Given the description of an element on the screen output the (x, y) to click on. 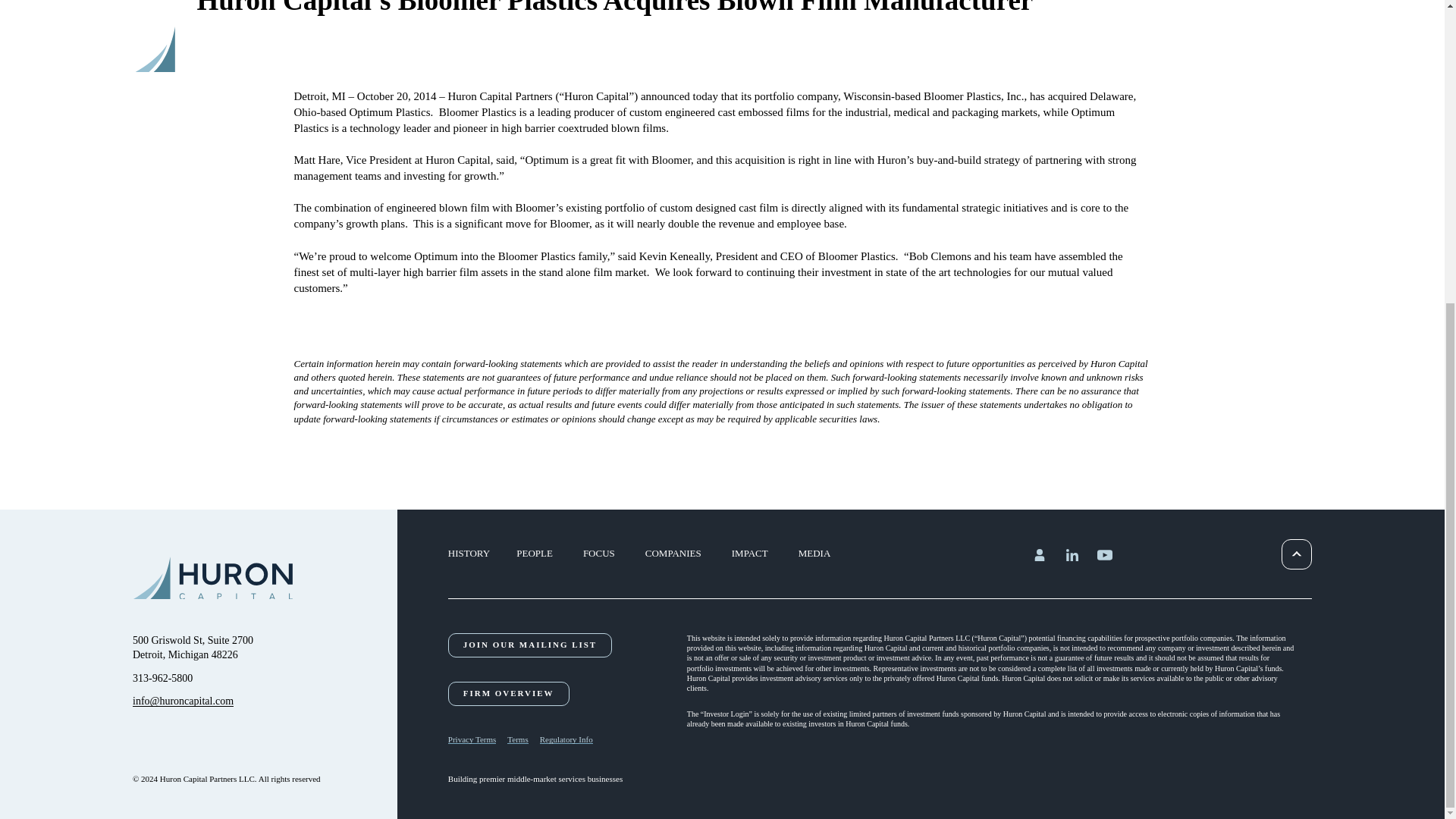
313-962-5800 (162, 677)
IMPACT (749, 553)
FIRM OVERVIEW (508, 693)
wpforms-submit (722, 169)
JOIN OUR MAILING LIST (529, 645)
FOCUS (599, 553)
Privacy Terms (192, 647)
PEOPLE (474, 739)
MEDIA (534, 553)
